Given the description of an element on the screen output the (x, y) to click on. 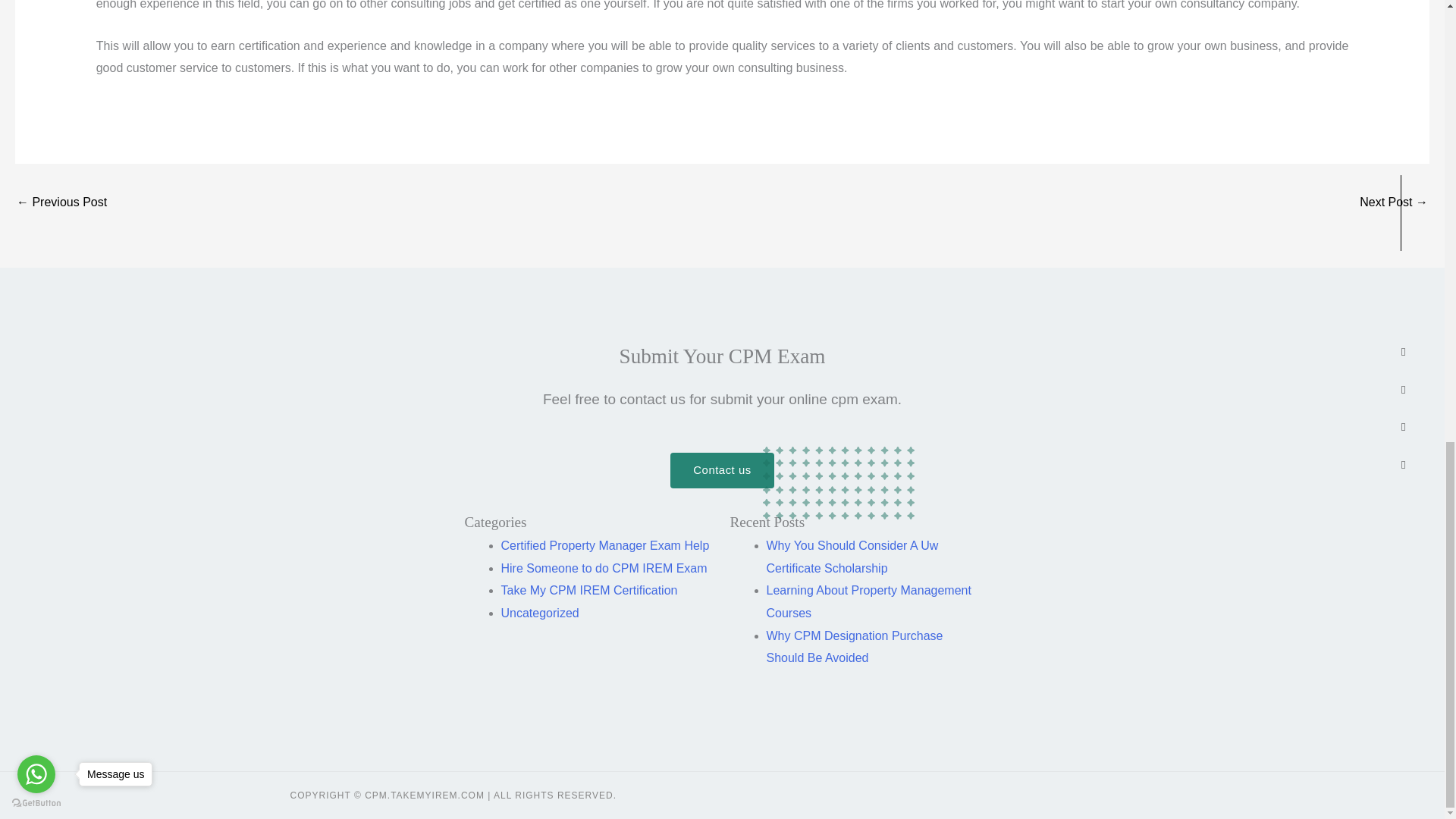
Learning About Property Management Courses (868, 601)
Contact us (721, 470)
Take My CPM IREM Certification (588, 590)
Uncategorized (539, 612)
Certified Property Manager Exam Help (604, 545)
Why You Should Consider A Uw Certificate Scholarship (851, 556)
Why CPM Designation Purchase Should Be Avoided (853, 647)
Hire Someone to do CPM IREM Exam (603, 567)
Product Management Course Overview (1393, 203)
Benefits Of PRM Certification (61, 203)
